Given the description of an element on the screen output the (x, y) to click on. 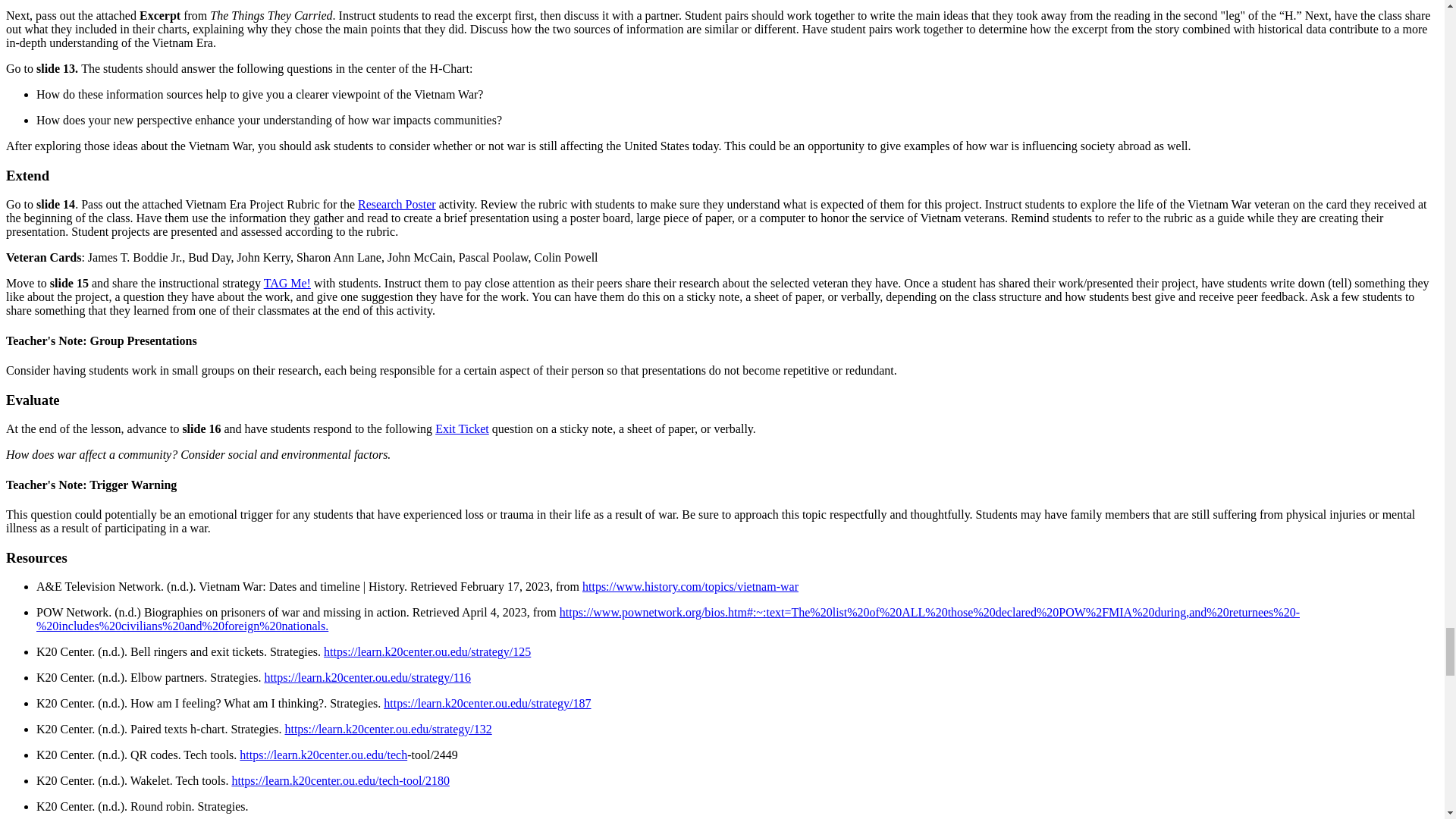
TAG Me! (287, 282)
Research Poster (396, 204)
Exit Ticket (462, 428)
